Given the description of an element on the screen output the (x, y) to click on. 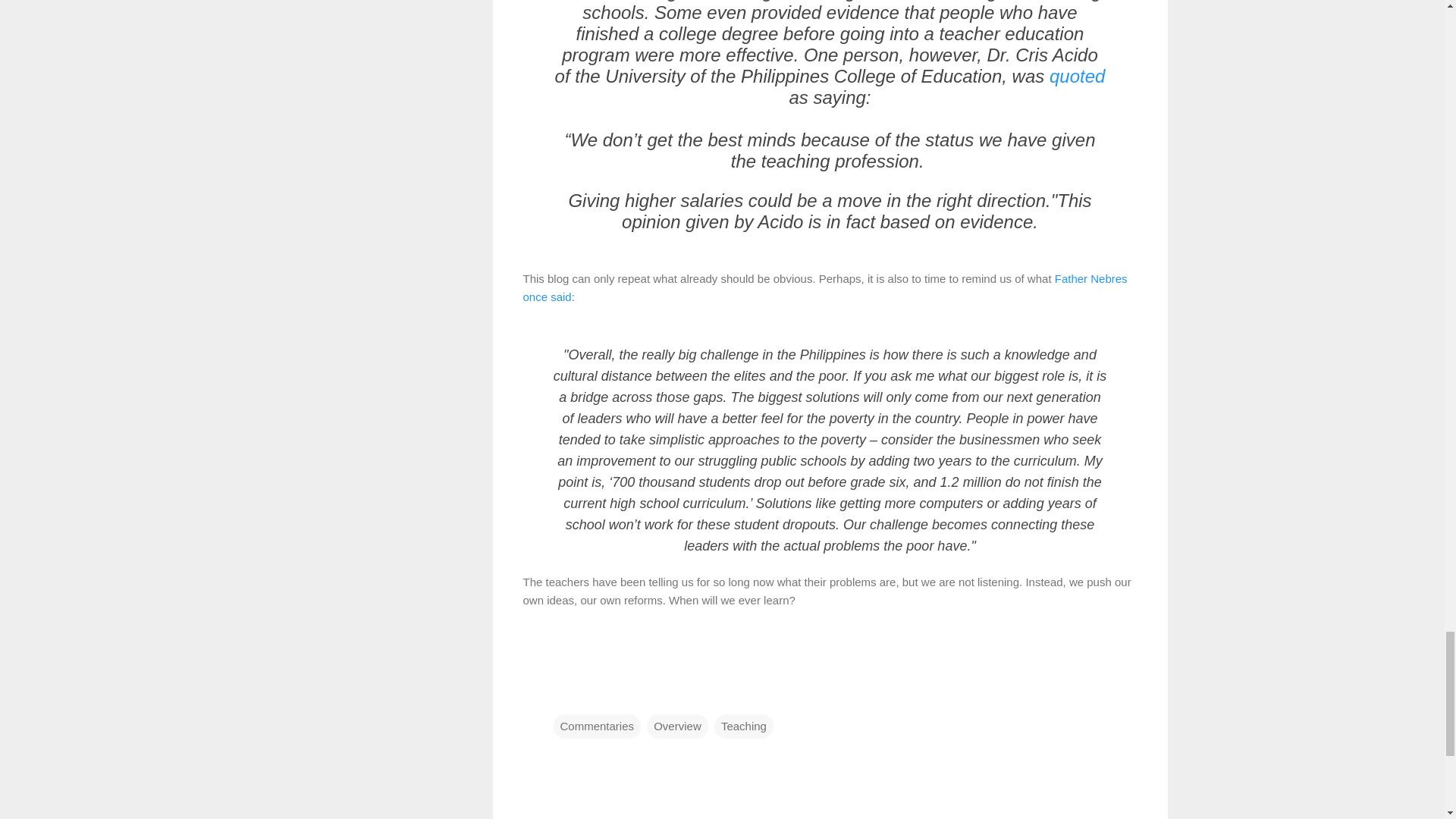
quoted (1077, 76)
Teaching (743, 726)
Commentaries (597, 726)
Father Nebres once said (824, 287)
Overview (676, 726)
